Given the description of an element on the screen output the (x, y) to click on. 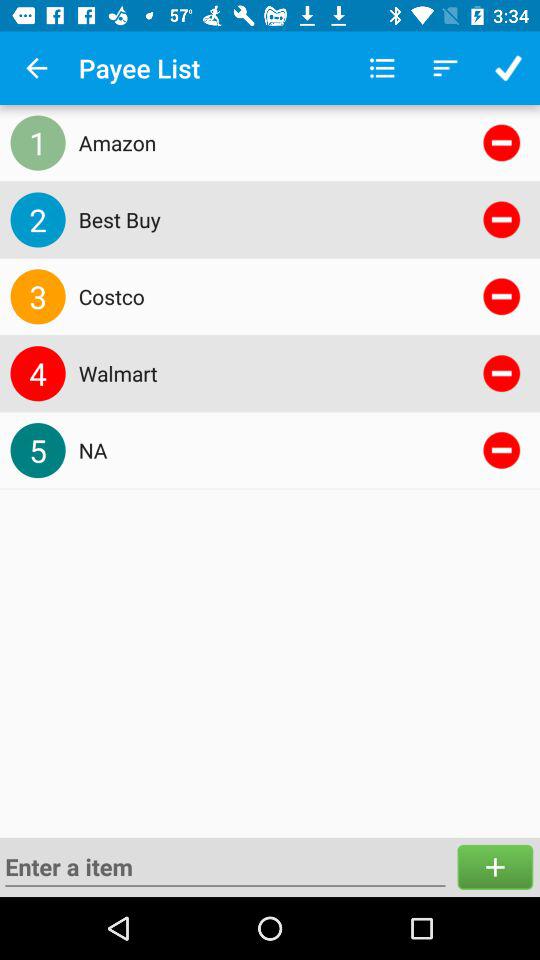
add item (495, 866)
